Given the description of an element on the screen output the (x, y) to click on. 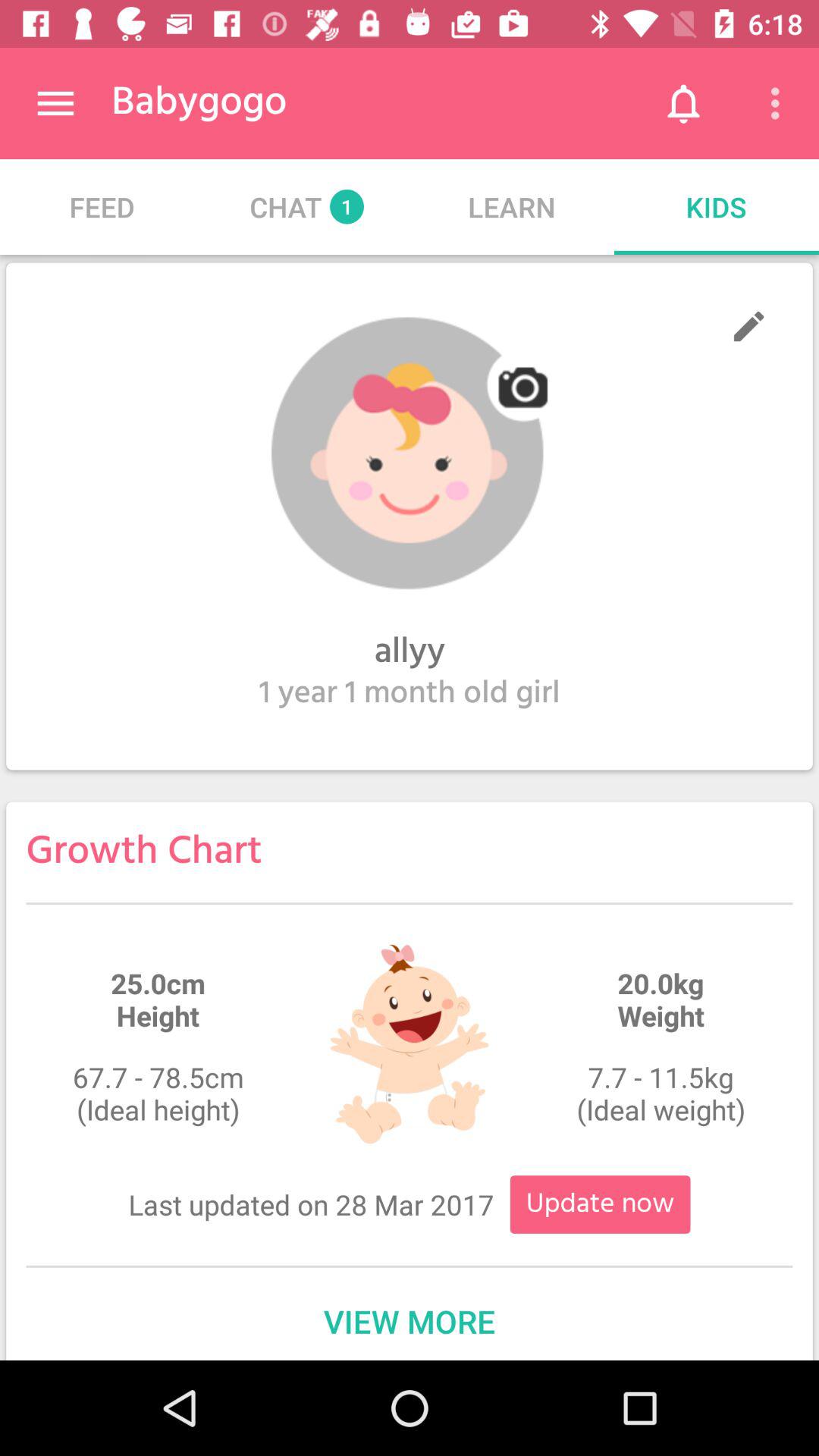
profile photo option (409, 453)
